Given the description of an element on the screen output the (x, y) to click on. 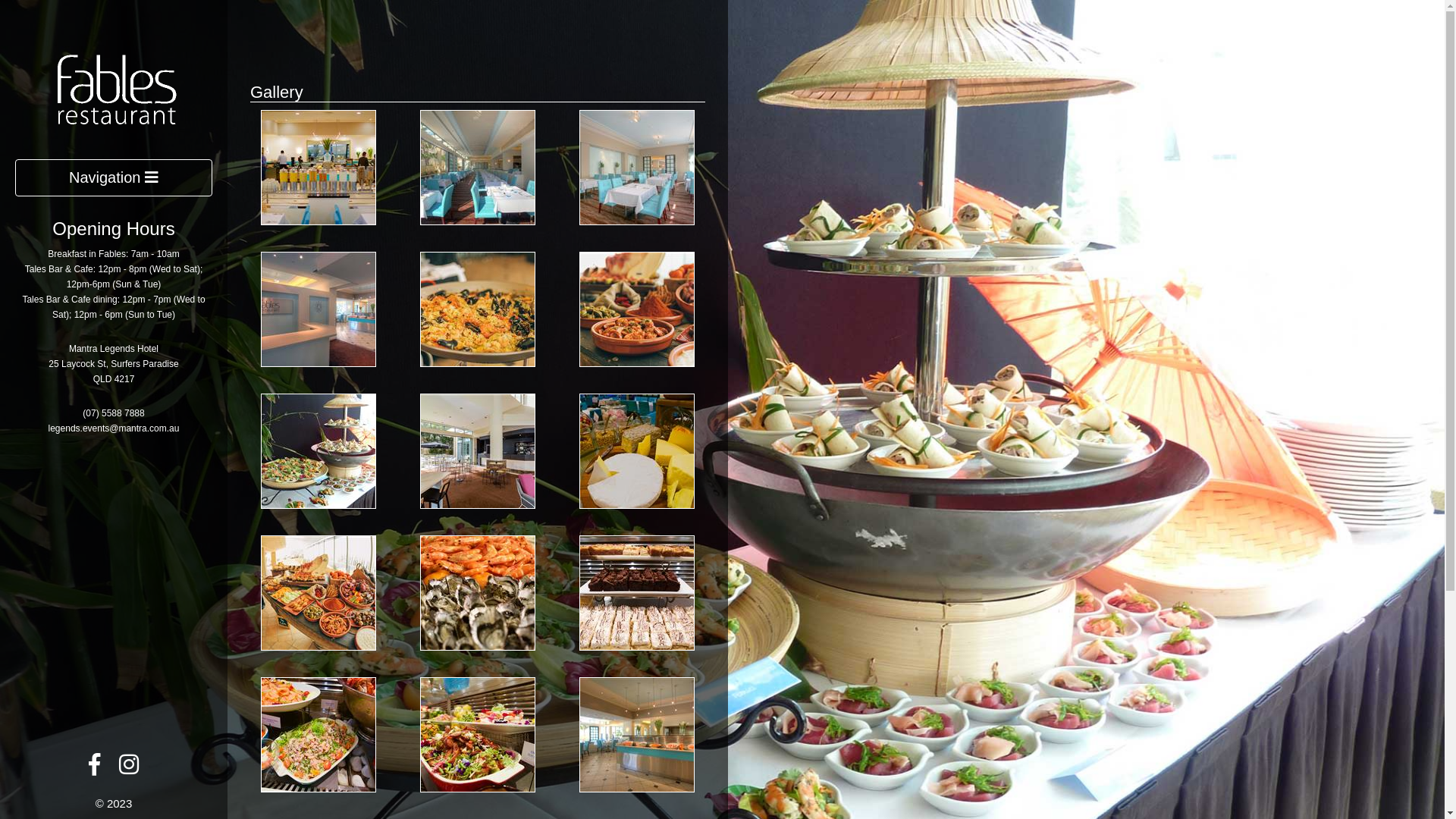
Fables Restaurant Element type: hover (113, 85)
Navigation Element type: text (113, 177)
Instagram Element type: hover (128, 768)
legends.events@mantra.com.au Element type: text (113, 428)
Facebook Element type: hover (94, 768)
(07) 5588 7888 Element type: text (113, 412)
